Given the description of an element on the screen output the (x, y) to click on. 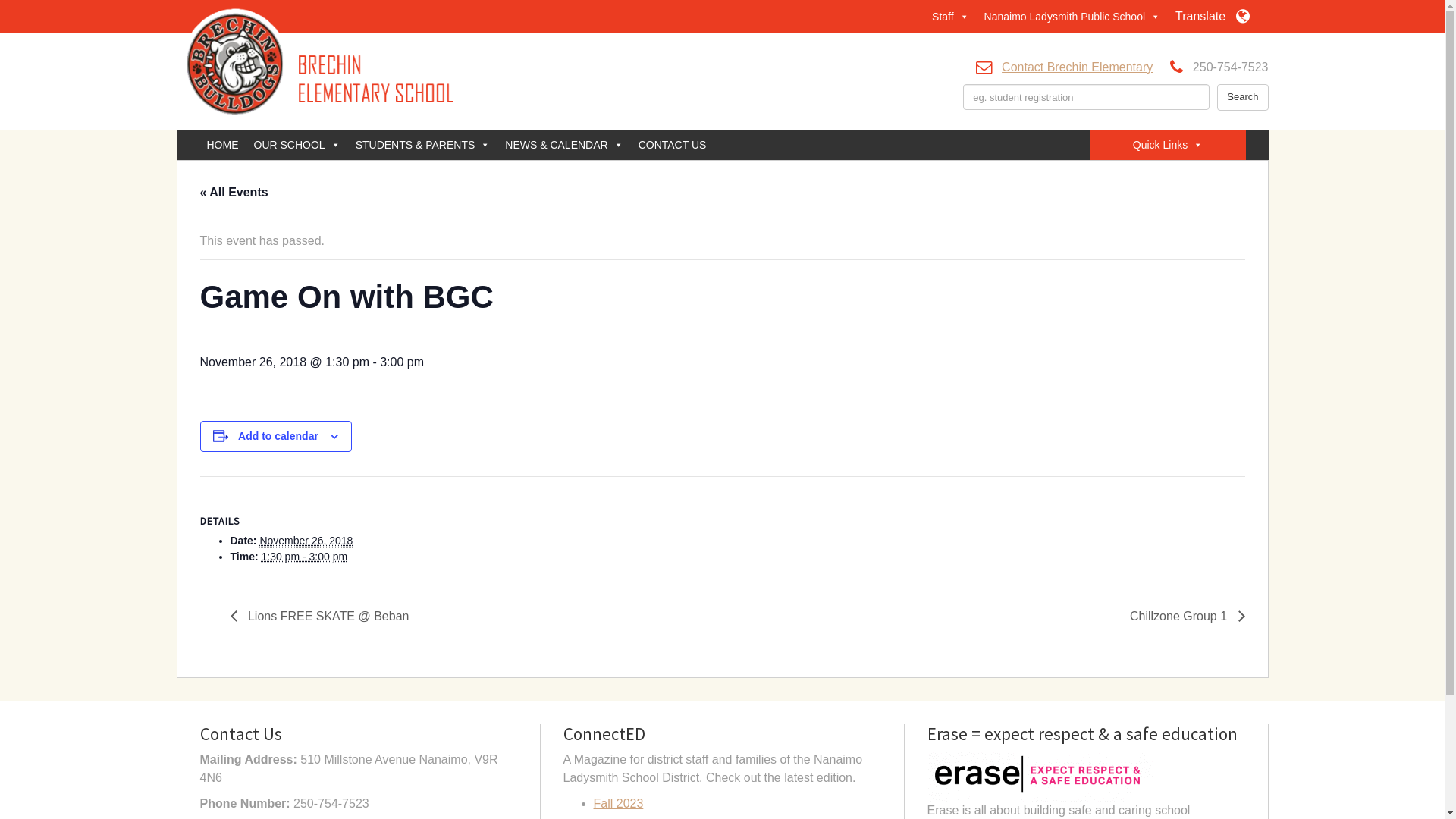
Contact Brechin Elementary Element type: text (1076, 66)
Quick Links Element type: text (1167, 144)
Add to calendar Element type: text (278, 435)
Staff Element type: text (950, 16)
Search Element type: text (1242, 97)
OUR SCHOOL Element type: text (296, 144)
Lions FREE SKATE @ Beban Element type: text (323, 615)
Nanaimo Ladysmith Public School Element type: text (1071, 16)
Translate   Element type: text (1211, 16)
CONTACT US Element type: text (672, 144)
HOME Element type: text (221, 144)
Chillzone Group 1 Element type: text (1183, 615)
STUDENTS & PARENTS Element type: text (423, 144)
NEWS & CALENDAR Element type: text (563, 144)
Fall 2023 Element type: text (618, 803)
